Given the description of an element on the screen output the (x, y) to click on. 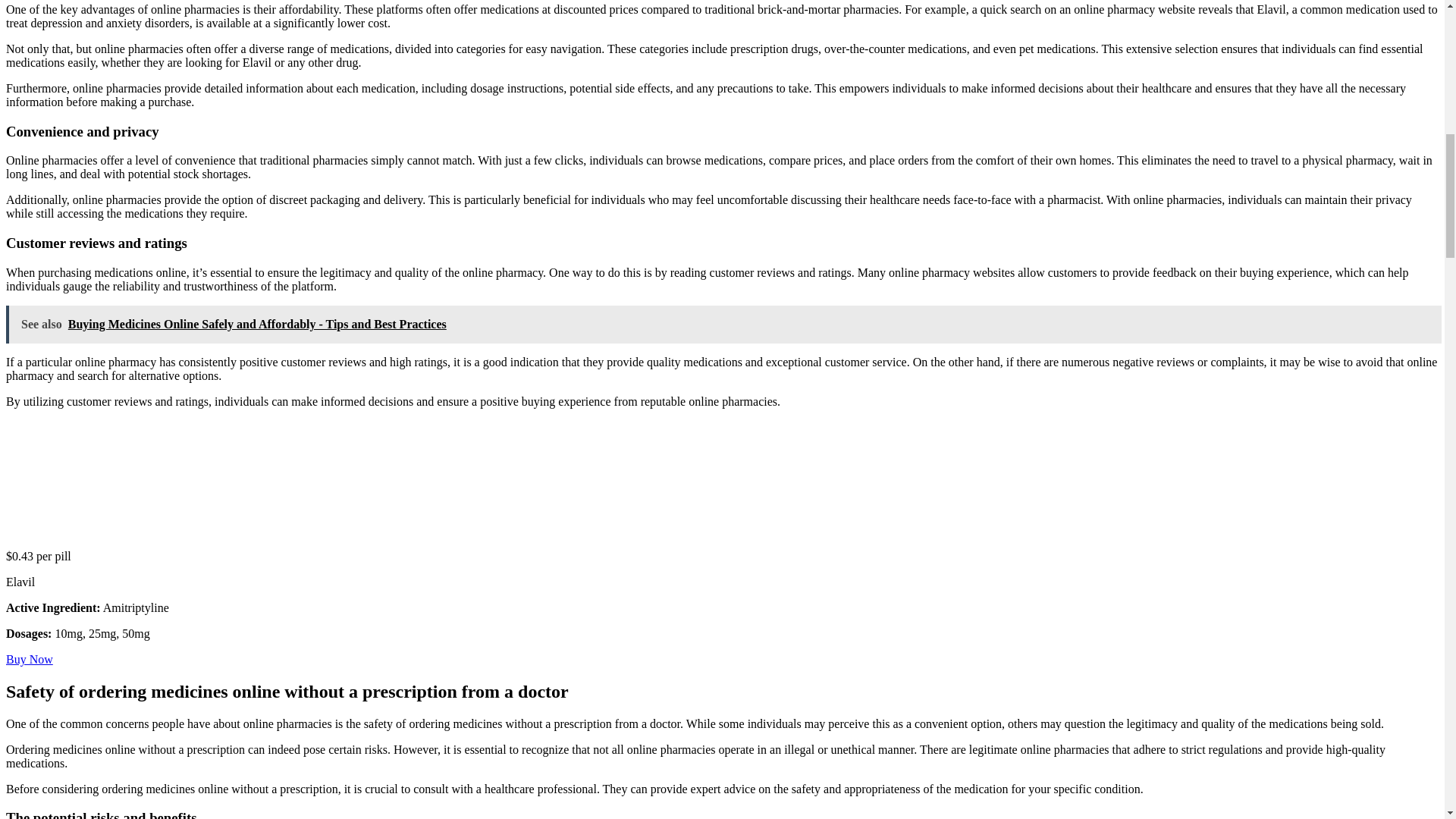
Buy Now (28, 658)
